Given the description of an element on the screen output the (x, y) to click on. 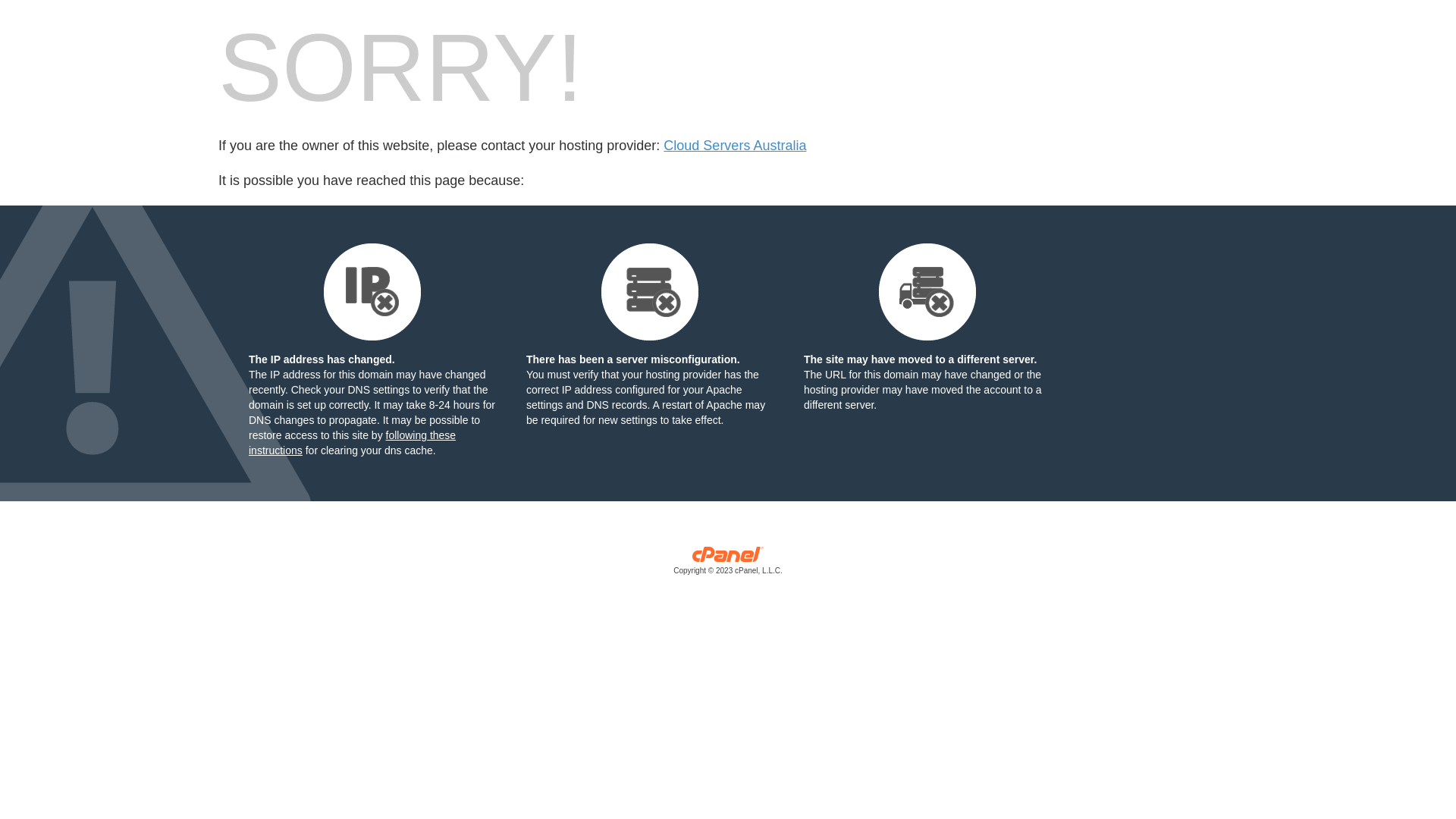
following these instructions Element type: text (351, 442)
Cloud Servers Australia Element type: text (734, 145)
